Given the description of an element on the screen output the (x, y) to click on. 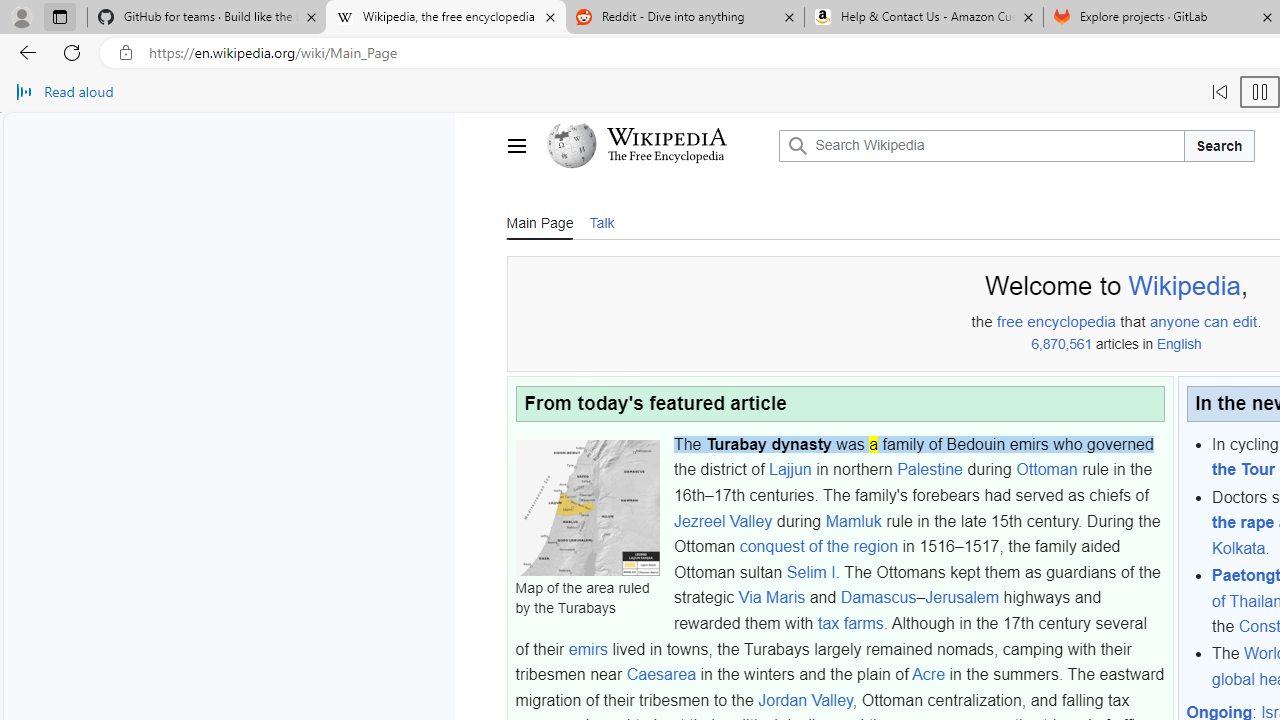
6,870,561 (1060, 344)
Ottoman (1046, 469)
Jerusalem (962, 597)
Jordan Valley (804, 700)
Read previous paragraph (1220, 92)
Jezreel Valley (723, 520)
encyclopedia (1071, 322)
emirs (588, 649)
Via Maris (772, 597)
Kolkata (1238, 548)
Acre (928, 675)
